Given the description of an element on the screen output the (x, y) to click on. 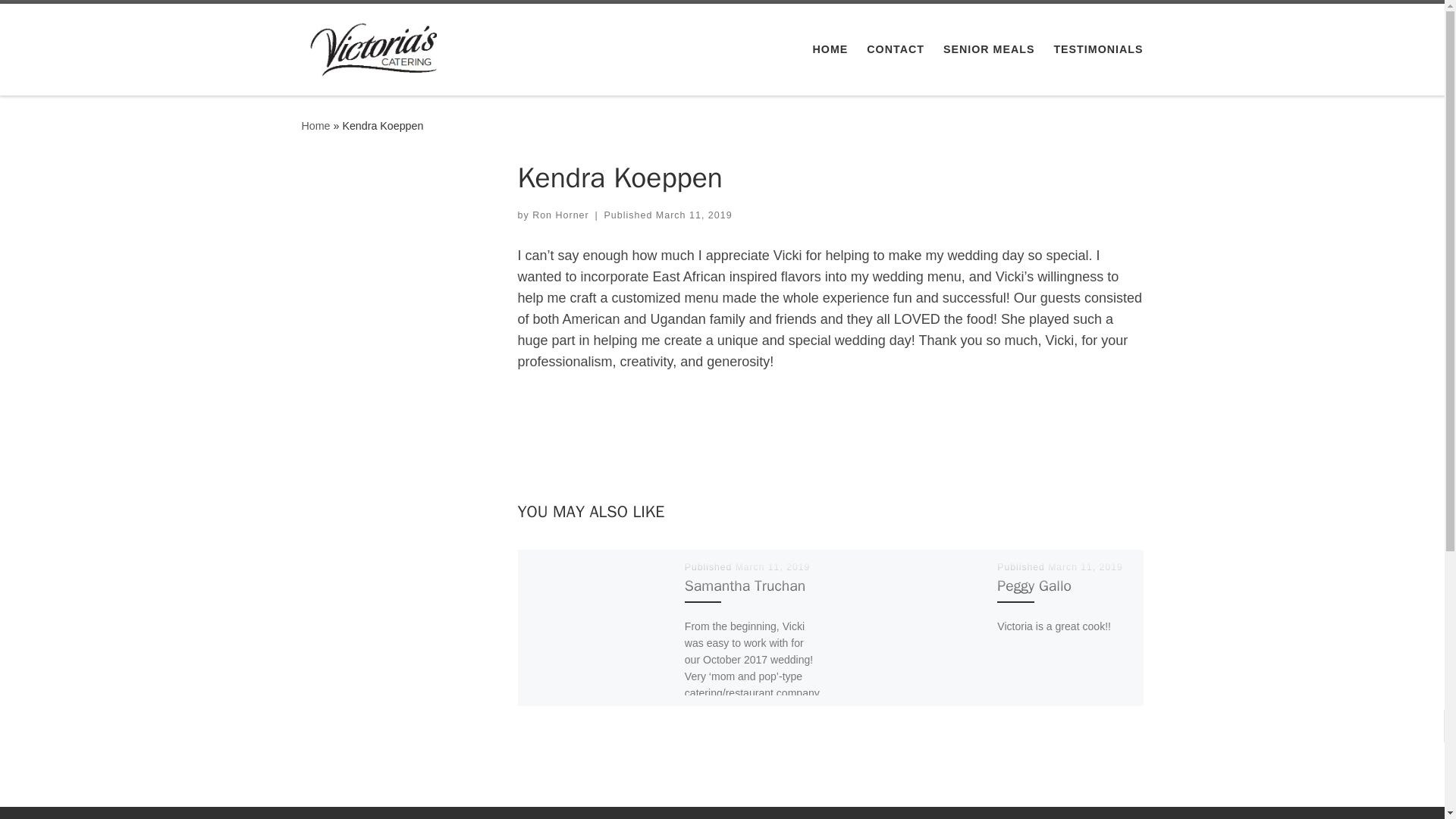
Skip to content (60, 20)
March 11, 2019 (772, 566)
TESTIMONIALS (1098, 49)
Ron Horner (560, 214)
Home (315, 125)
March 11, 2019 (694, 214)
SENIOR MEALS (989, 49)
Peggy Gallo (1034, 585)
